Given the description of an element on the screen output the (x, y) to click on. 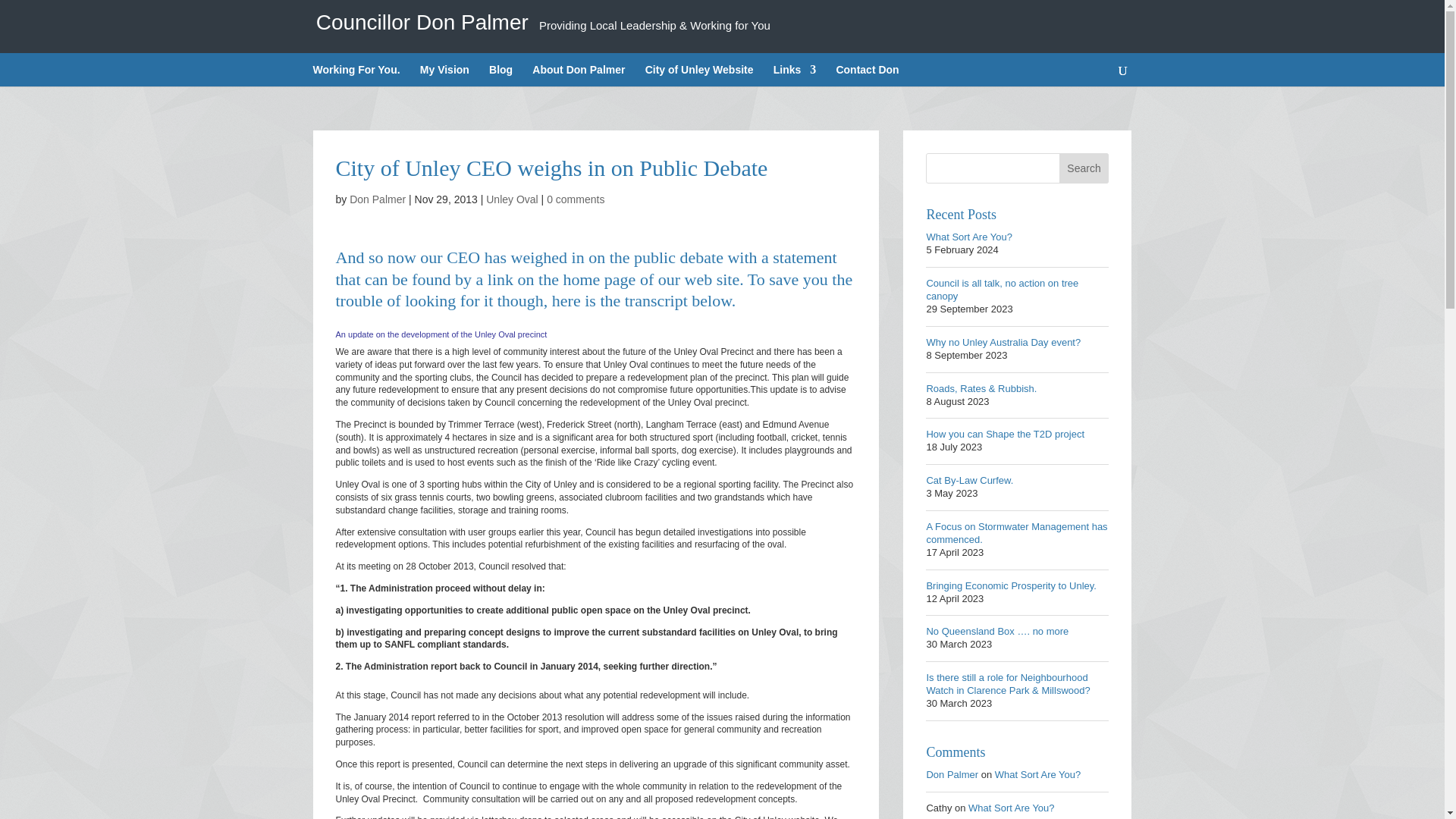
Links (794, 75)
Posts by Don Palmer (377, 199)
How you can Shape the T2D project (1005, 433)
My Vision (444, 75)
Search (1084, 168)
Contact Don (866, 75)
Council is all talk, no action on tree canopy (1002, 289)
Don Palmer (377, 199)
About Don Palmer (578, 75)
What Sort Are You? (968, 236)
0 comments (575, 199)
Blog (500, 75)
Search (1084, 168)
Why no Unley Australia Day event? (1003, 342)
Nicolle Flint-Federal Member for Boothby (794, 75)
